Given the description of an element on the screen output the (x, y) to click on. 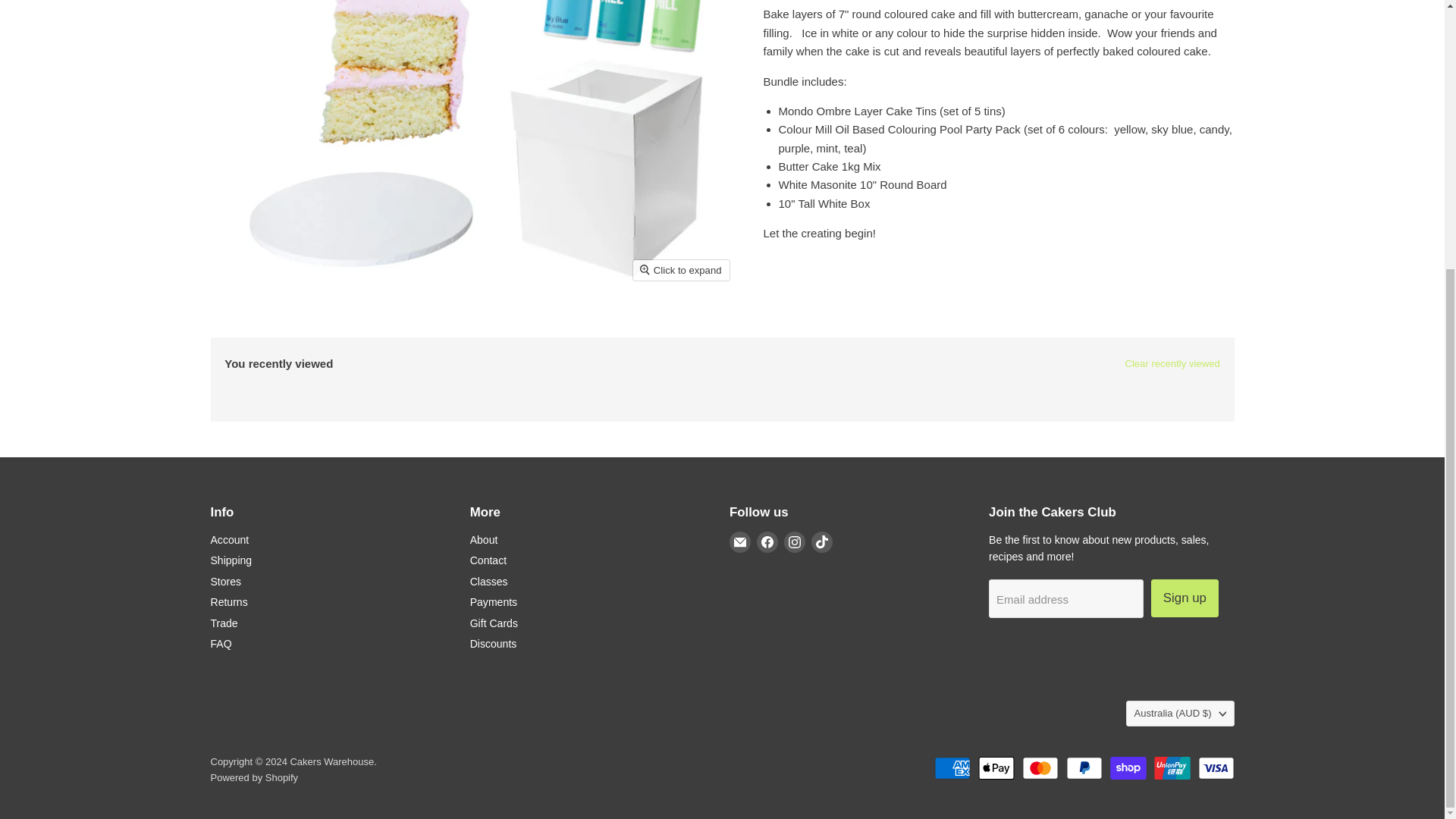
Facebook (767, 541)
TikTok (821, 541)
Shop Pay (1128, 767)
Email (740, 541)
Instagram (794, 541)
PayPal (1083, 767)
Apple Pay (996, 767)
Mastercard (1040, 767)
American Express (952, 767)
